Given the description of an element on the screen output the (x, y) to click on. 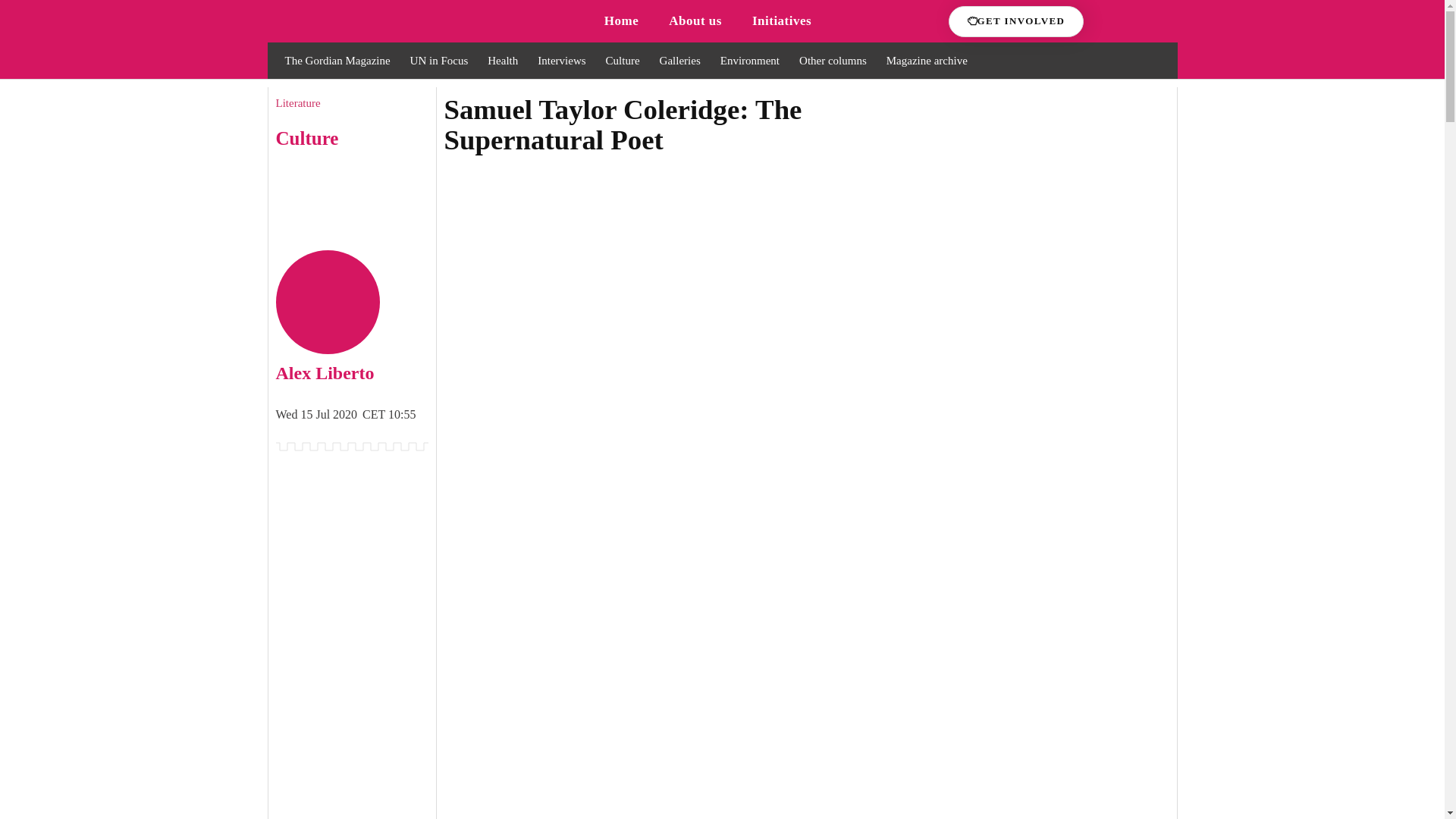
Galleries (679, 60)
Environment (749, 60)
Initiatives (781, 21)
GET INVOLVED (1016, 20)
About us (694, 21)
The Gordian Magazine (336, 60)
Home (621, 21)
UN in Focus (439, 60)
Health (502, 60)
Interviews (561, 60)
